Given the description of an element on the screen output the (x, y) to click on. 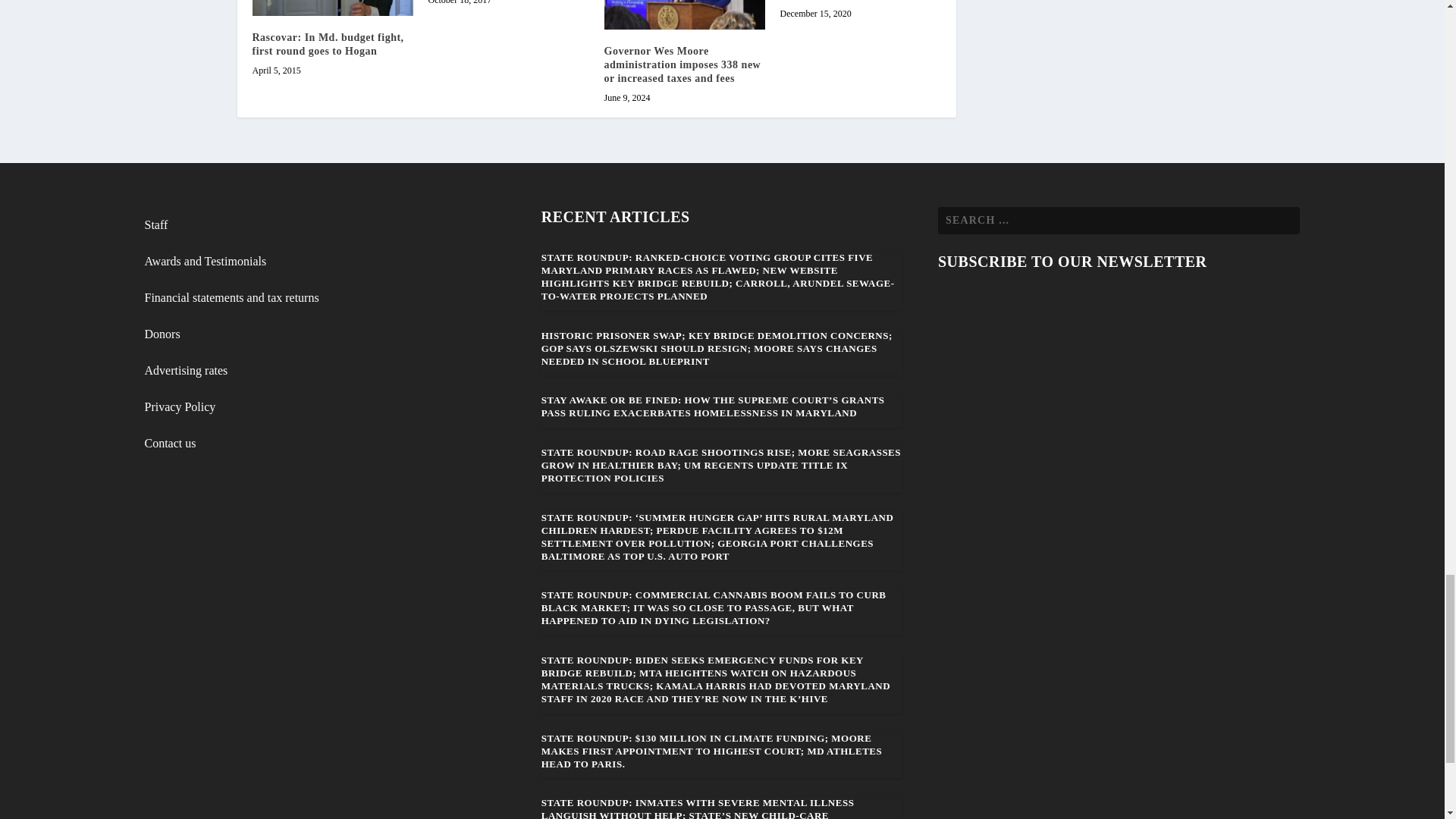
Rascovar: In Md. budget fight, first round goes to Hogan (327, 43)
Rascovar: In Md. budget fight, first round goes to Hogan (331, 7)
